Given the description of an element on the screen output the (x, y) to click on. 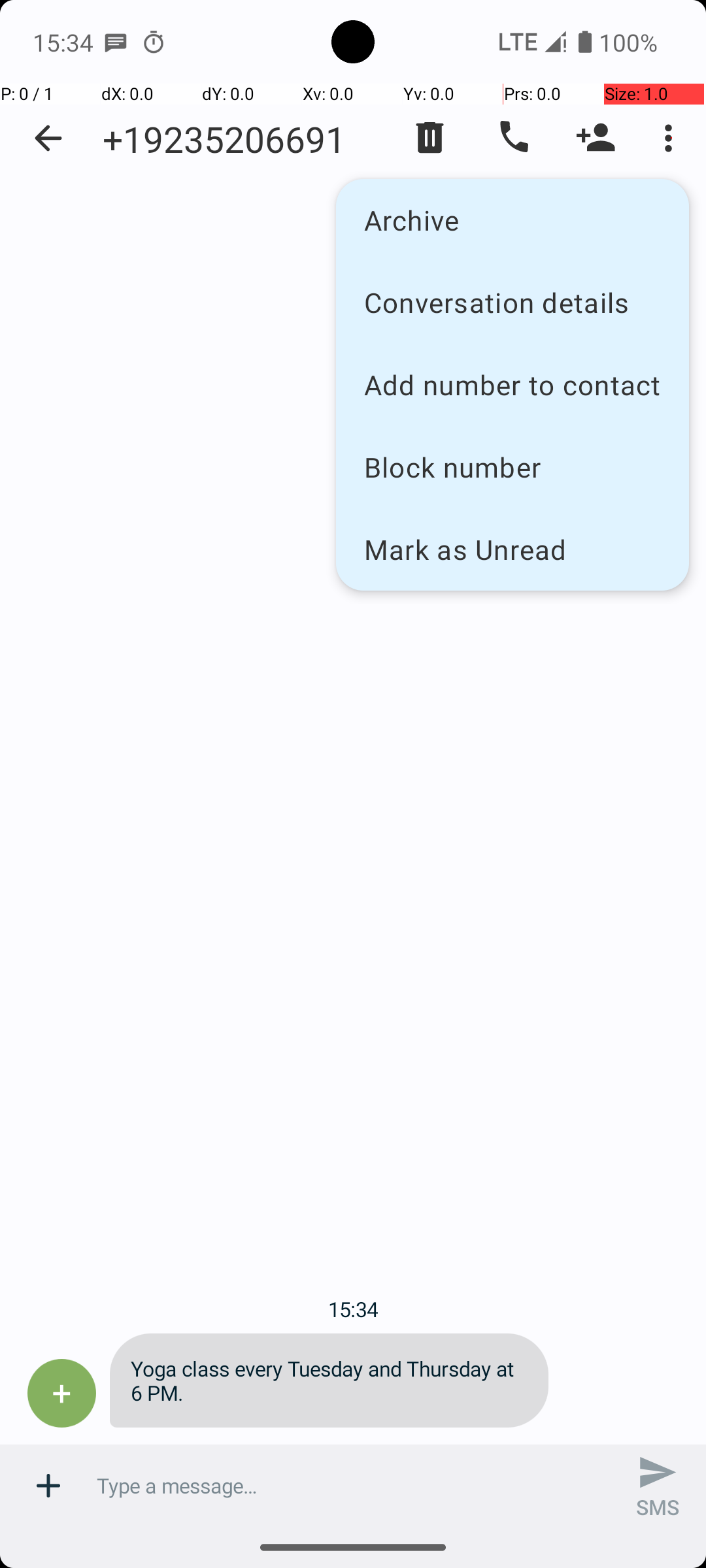
Archive Element type: android.widget.TextView (512, 219)
Conversation details Element type: android.widget.TextView (512, 301)
Add number to contact Element type: android.widget.TextView (512, 384)
Block number Element type: android.widget.TextView (512, 466)
Mark as Unread Element type: android.widget.TextView (512, 548)
SMS Messenger notification: +15785288010 Element type: android.widget.ImageView (115, 41)
